Given the description of an element on the screen output the (x, y) to click on. 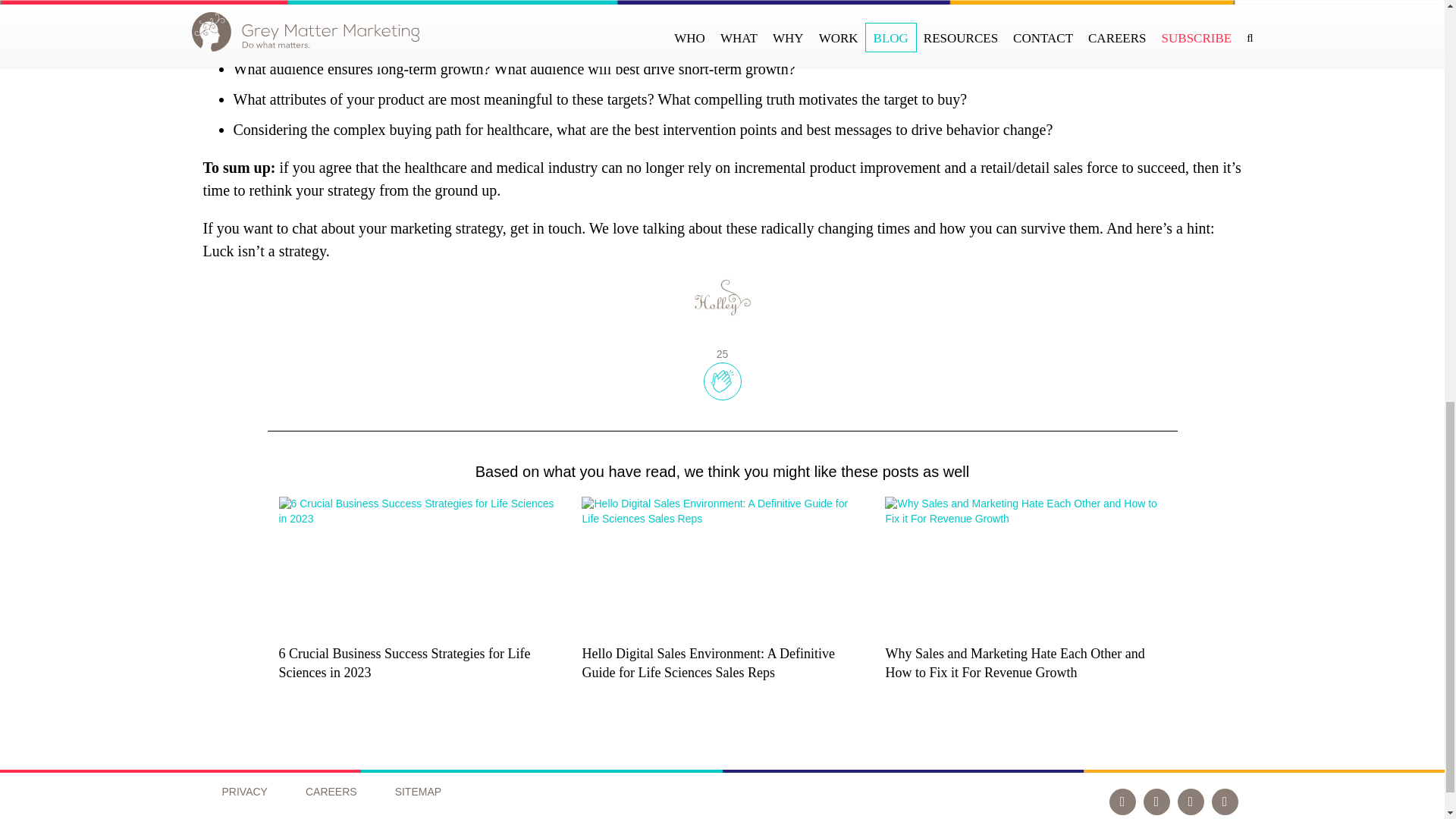
CAREERS (330, 791)
PRIVACY (243, 791)
GMM Blog signature (721, 296)
SITEMAP (417, 791)
